Given the description of an element on the screen output the (x, y) to click on. 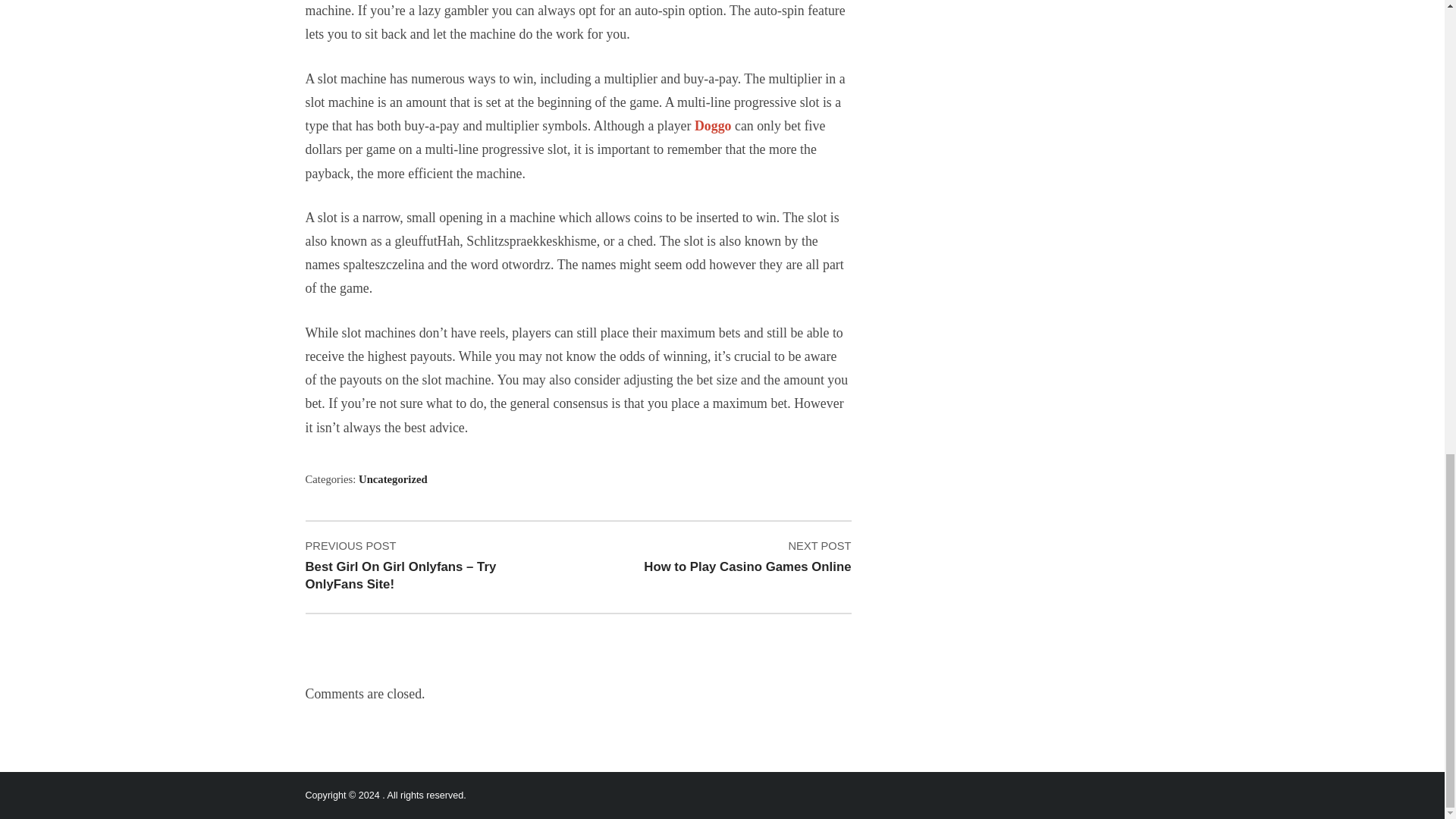
Uncategorized (724, 556)
Doggo (393, 479)
